Given the description of an element on the screen output the (x, y) to click on. 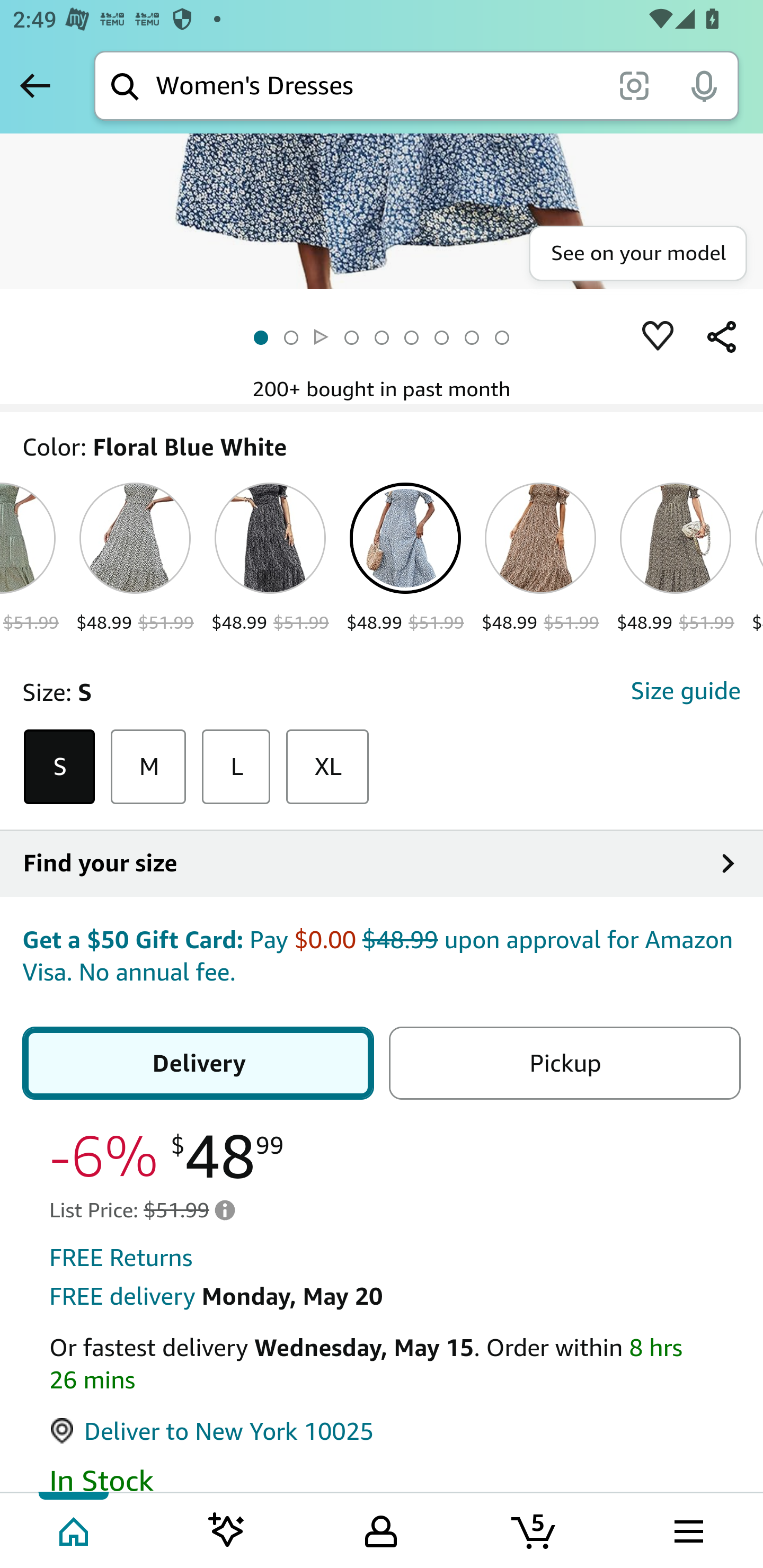
Back (35, 85)
scan it (633, 85)
See on your model (637, 253)
Heart to save an item to your default list (657, 337)
Size guide (684, 692)
S (59, 767)
M (148, 767)
L (236, 767)
XL (327, 767)
Find your size (381, 864)
Delivery (198, 1063)
Pickup (564, 1063)
Learn more about Amazon pricing and savings (225, 1210)
FREE Returns (121, 1259)
FREE delivery (122, 1297)
Deliver to New York 10025‌ (212, 1432)
Home Tab 1 of 5 (75, 1529)
Inspire feed Tab 2 of 5 (227, 1529)
Your Amazon.com Tab 3 of 5 (380, 1529)
Cart 5 items Tab 4 of 5 5 (534, 1529)
Browse menu Tab 5 of 5 (687, 1529)
